Given the description of an element on the screen output the (x, y) to click on. 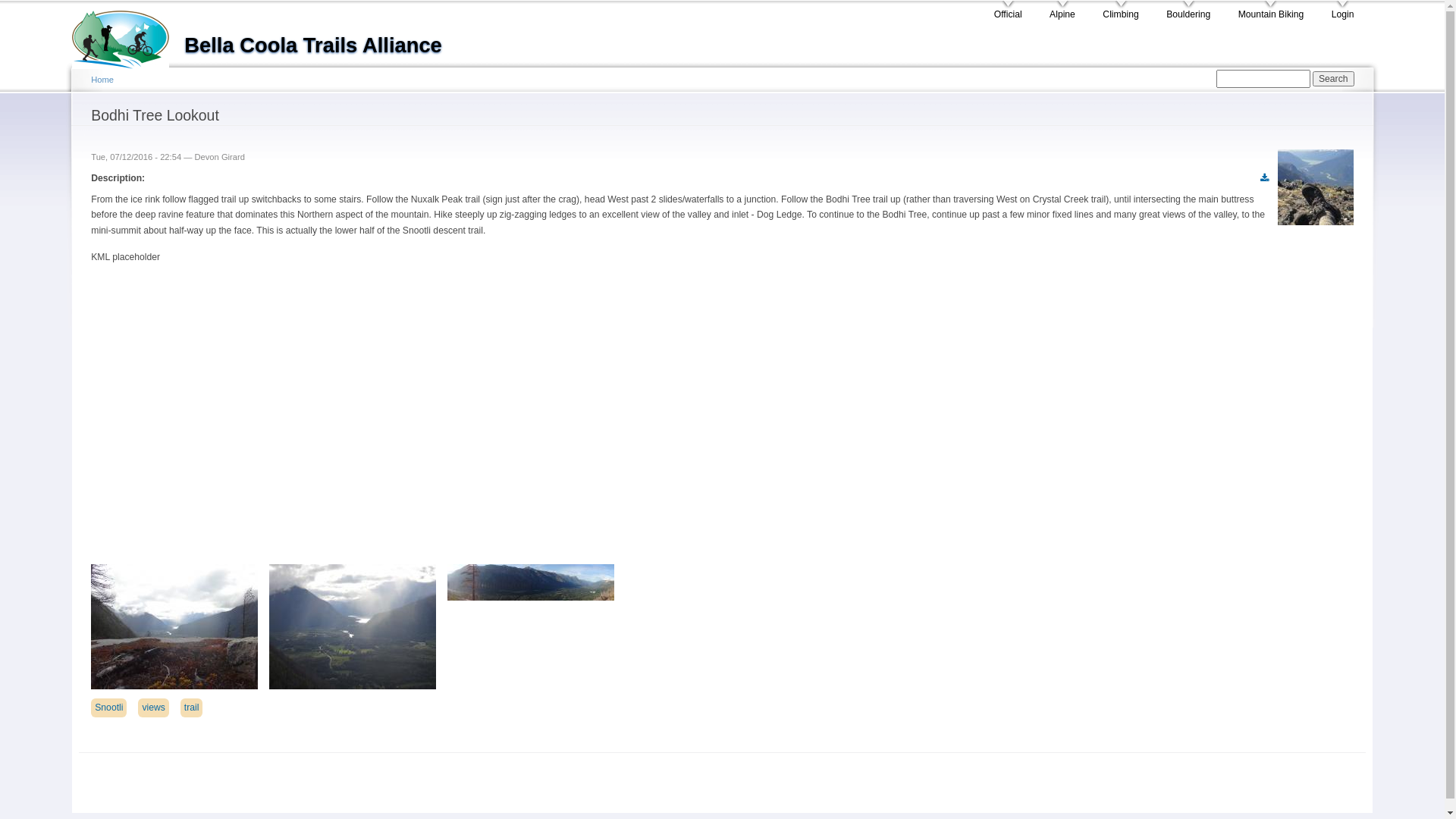
Skip to main content Element type: text (695, 2)
Bella Coola Trails Alliance  Element type: hover (128, 34)
views Element type: text (152, 707)
Official Element type: text (1008, 11)
Climbing Element type: text (1120, 11)
Mountain Biking Element type: text (1271, 11)
Devon Girard's picture Element type: hover (1315, 187)
Alpine Element type: text (1062, 11)
Bella Coola Trails Alliance Element type: text (313, 44)
Home Element type: text (102, 79)
Download KML Map File Element type: hover (1264, 178)
Login Element type: text (1342, 11)
Enter the terms you wish to search for. Element type: hover (1263, 78)
Bouldering Element type: text (1188, 11)
Search Element type: text (1333, 78)
trail Element type: text (191, 707)
Snootli Element type: text (108, 707)
